Given the description of an element on the screen output the (x, y) to click on. 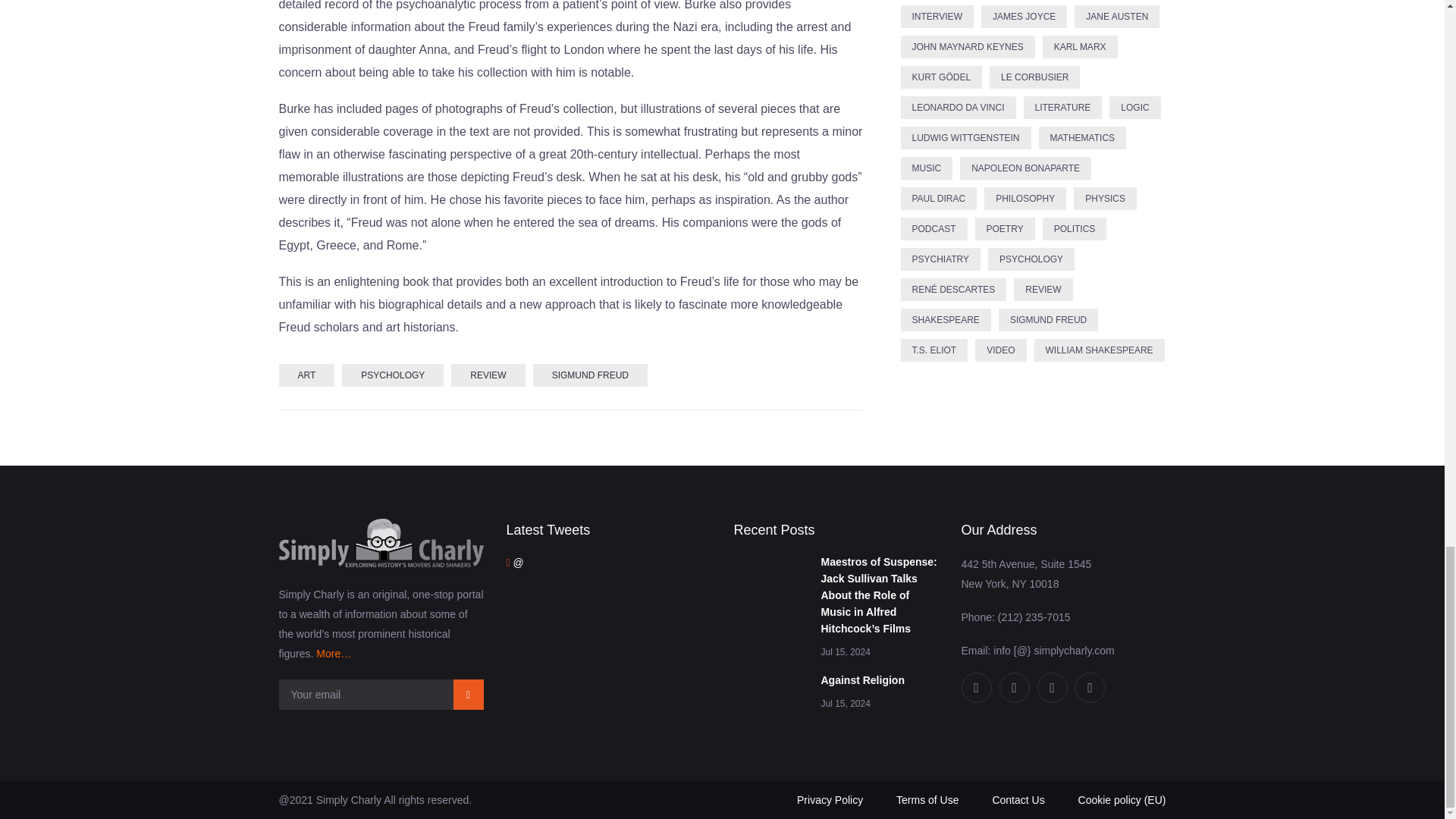
ART (306, 374)
